Given the description of an element on the screen output the (x, y) to click on. 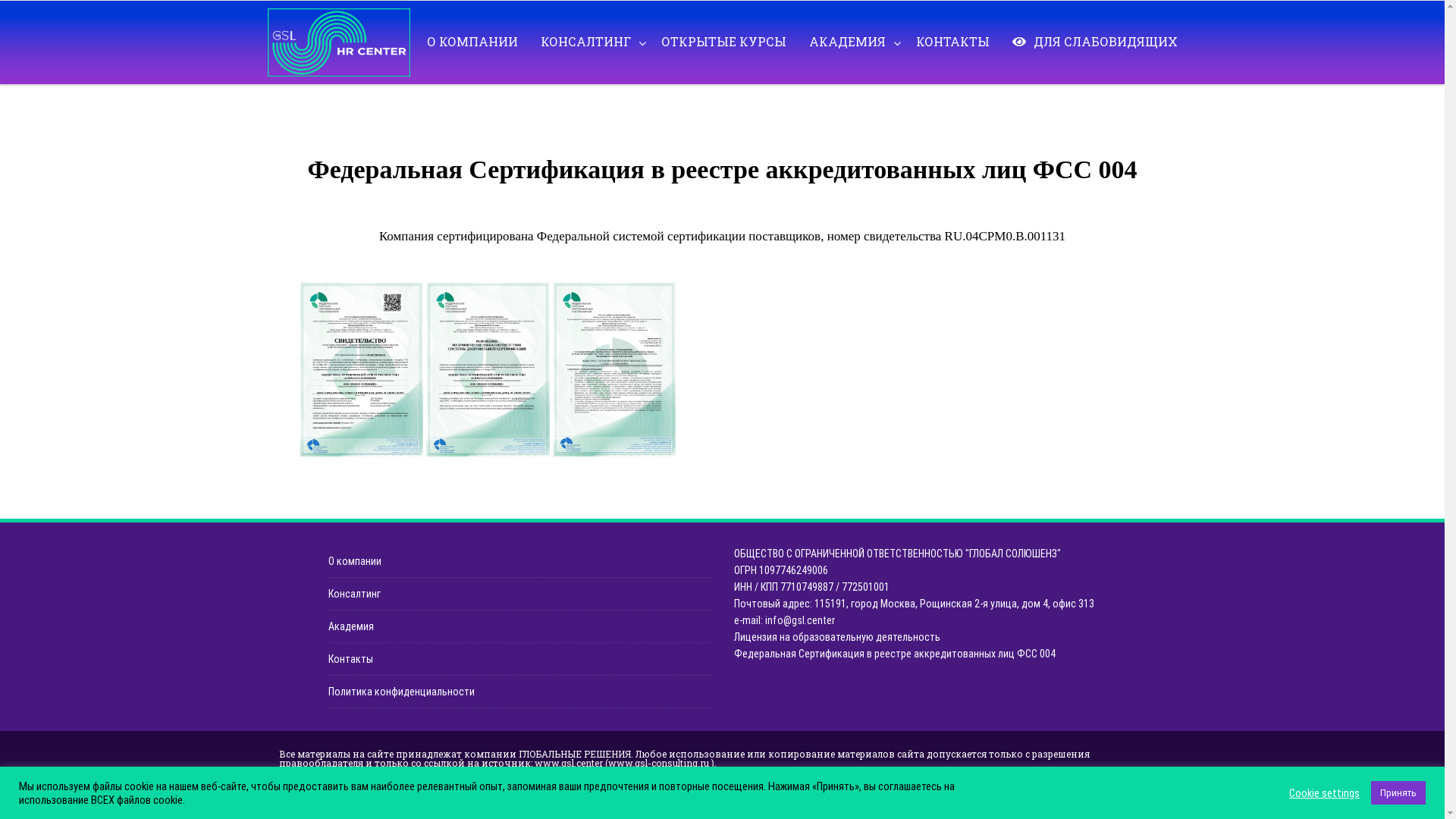
GSL Consulting Element type: hover (341, 42)
www.gsl.center Element type: text (567, 762)
Cookie settings Element type: text (1324, 792)
www.gsl-consulting.ru Element type: text (658, 762)
